Given the description of an element on the screen output the (x, y) to click on. 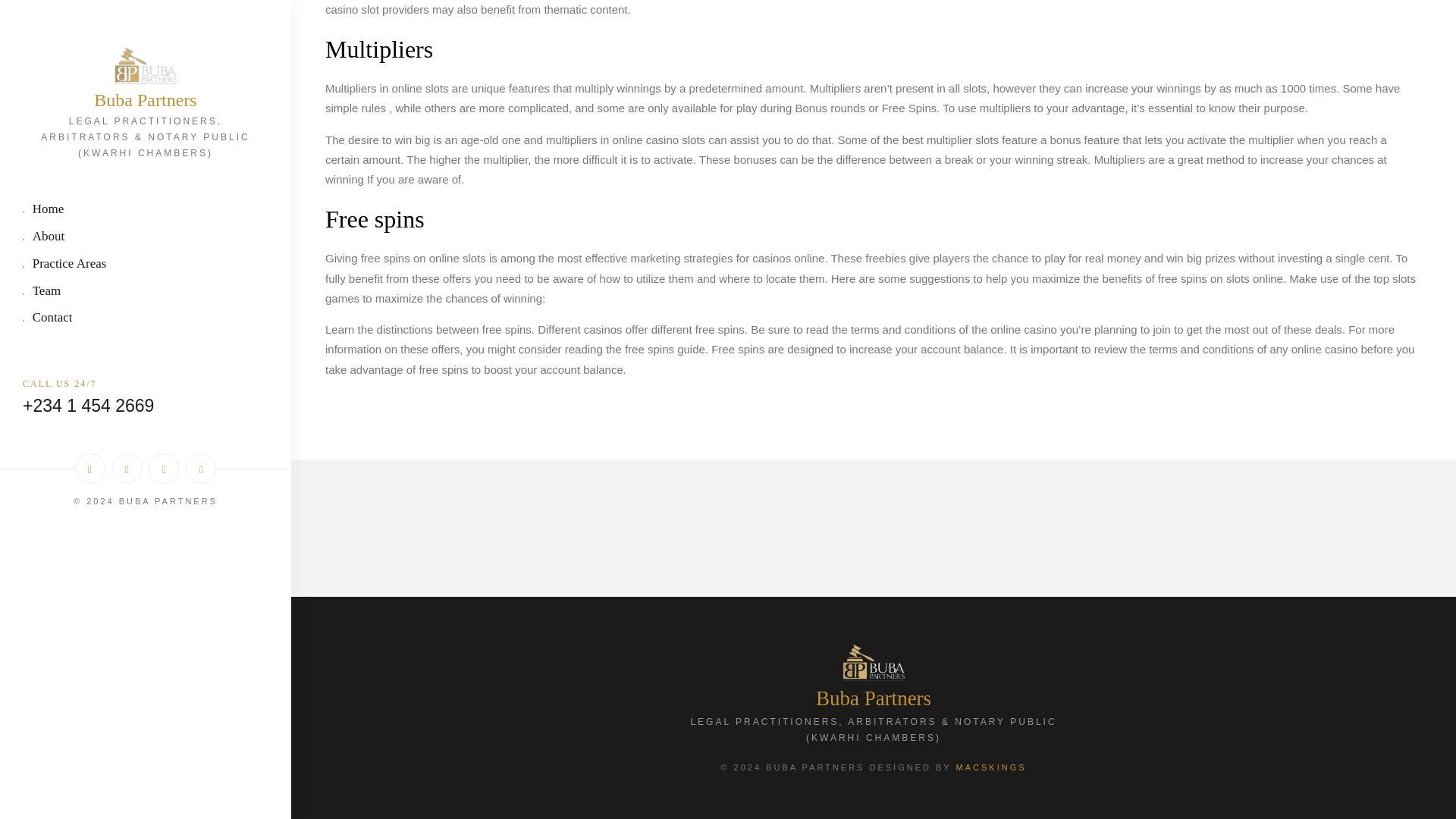
MACSKINGS (991, 767)
